Given the description of an element on the screen output the (x, y) to click on. 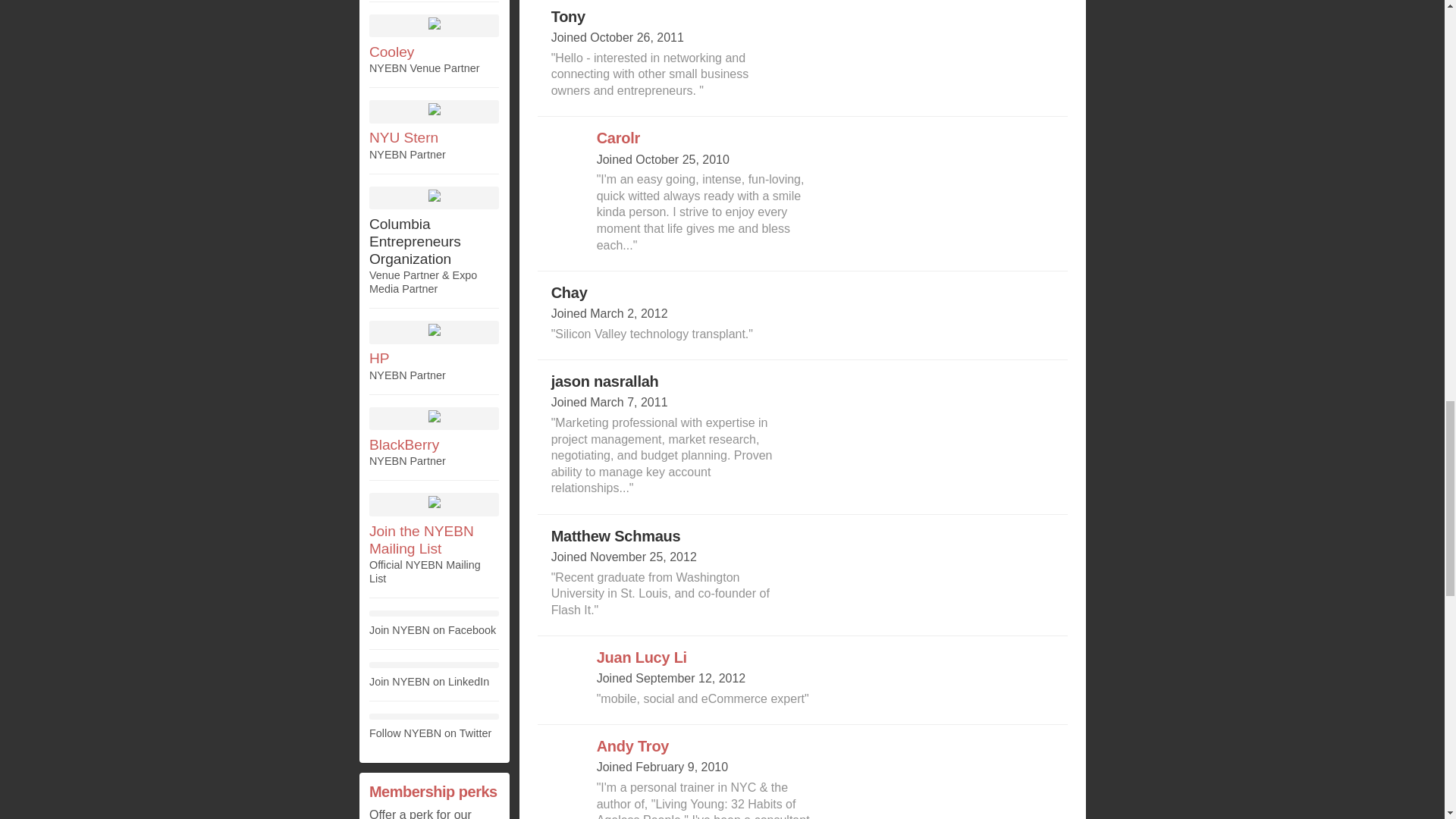
Andy Troy (632, 745)
Juan Lucy Li (641, 657)
Carolr (618, 137)
